Given the description of an element on the screen output the (x, y) to click on. 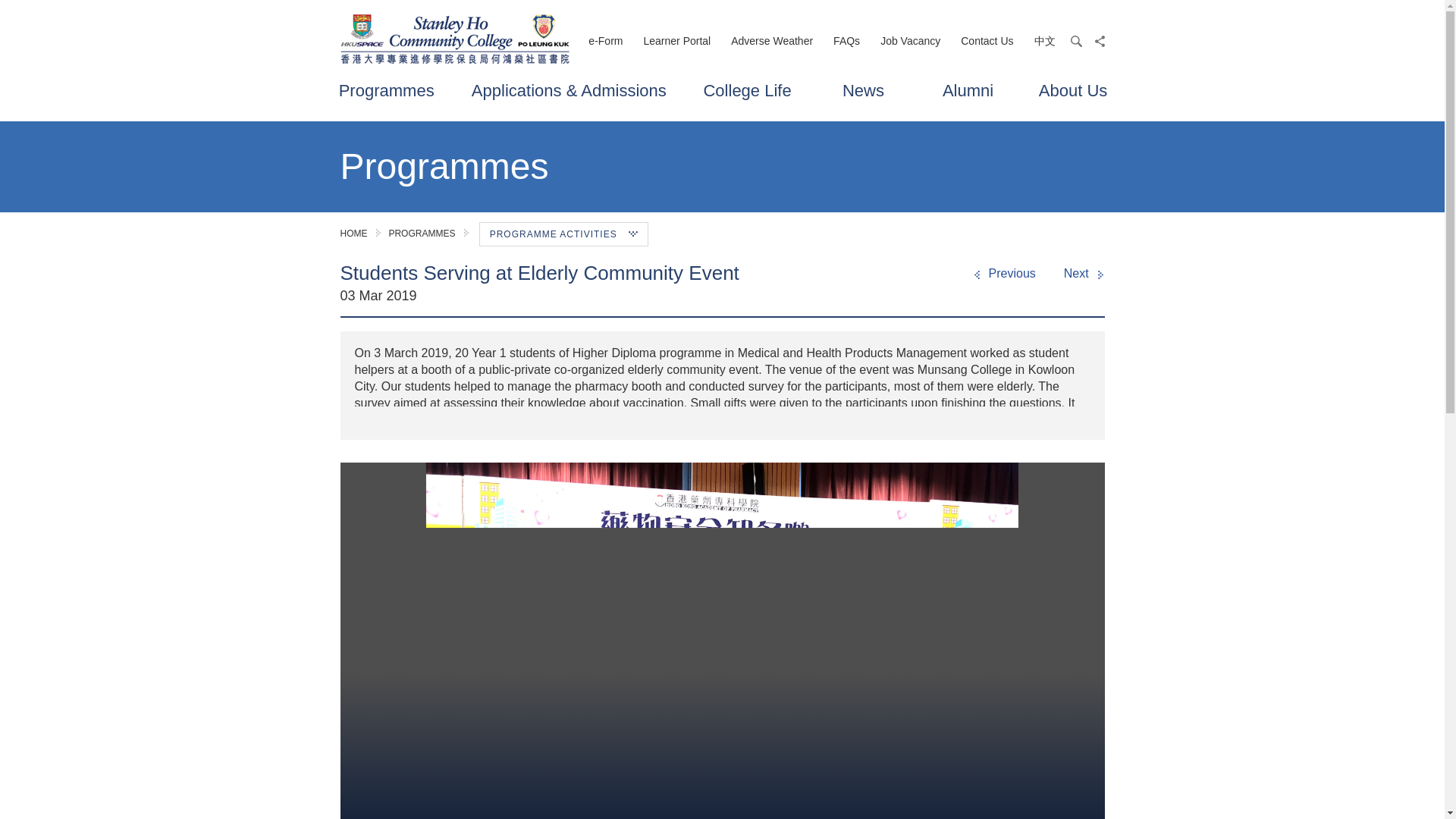
Programmes (386, 94)
Job Vacancy (910, 40)
Go (1082, 72)
College Life (746, 94)
e-Form (605, 40)
Contact Us (986, 40)
FAQs (846, 40)
Learner Portal (676, 40)
Adverse Weather (771, 40)
